Given the description of an element on the screen output the (x, y) to click on. 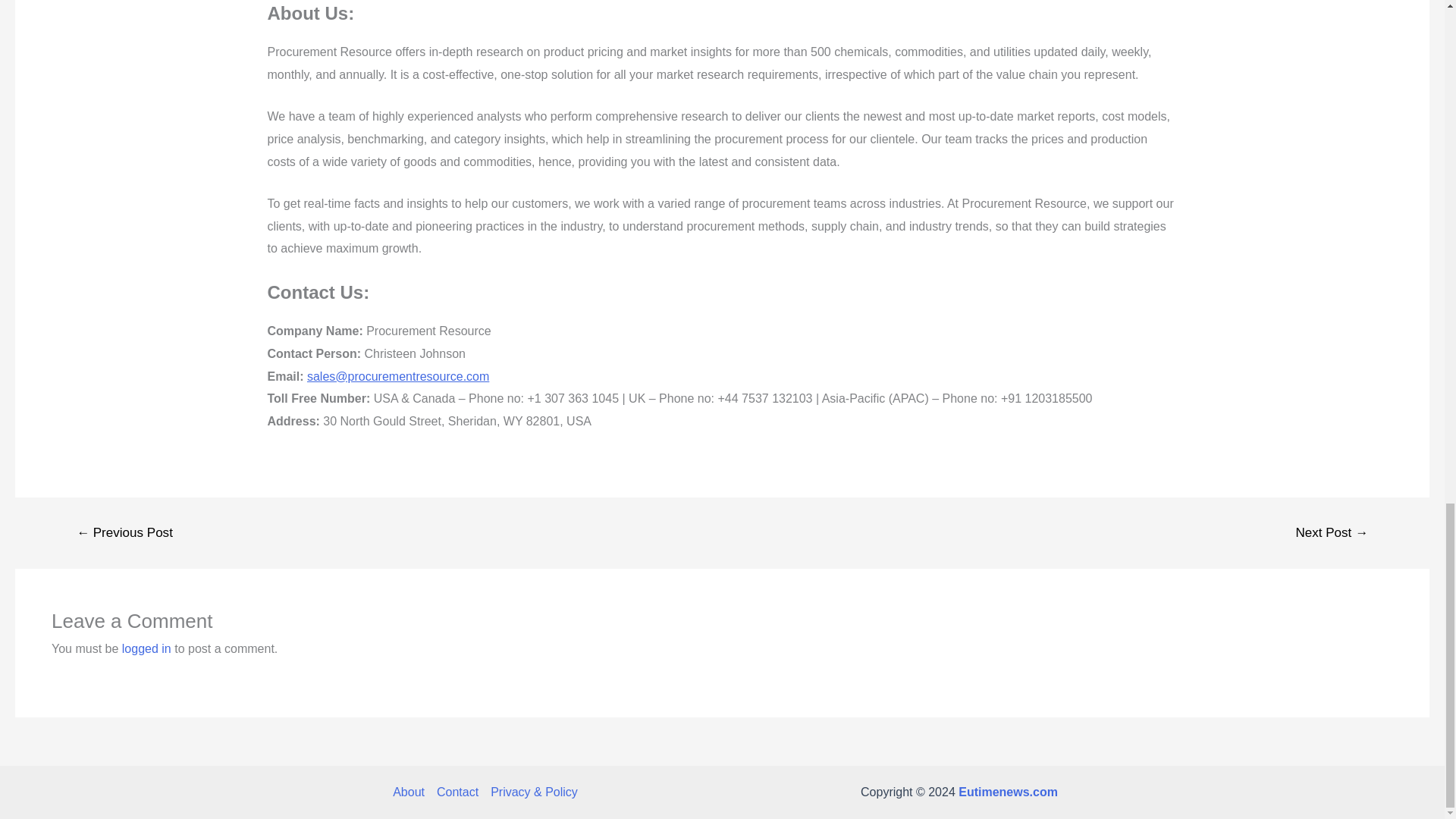
Contact (457, 792)
About (411, 792)
logged in (146, 648)
